Given the description of an element on the screen output the (x, y) to click on. 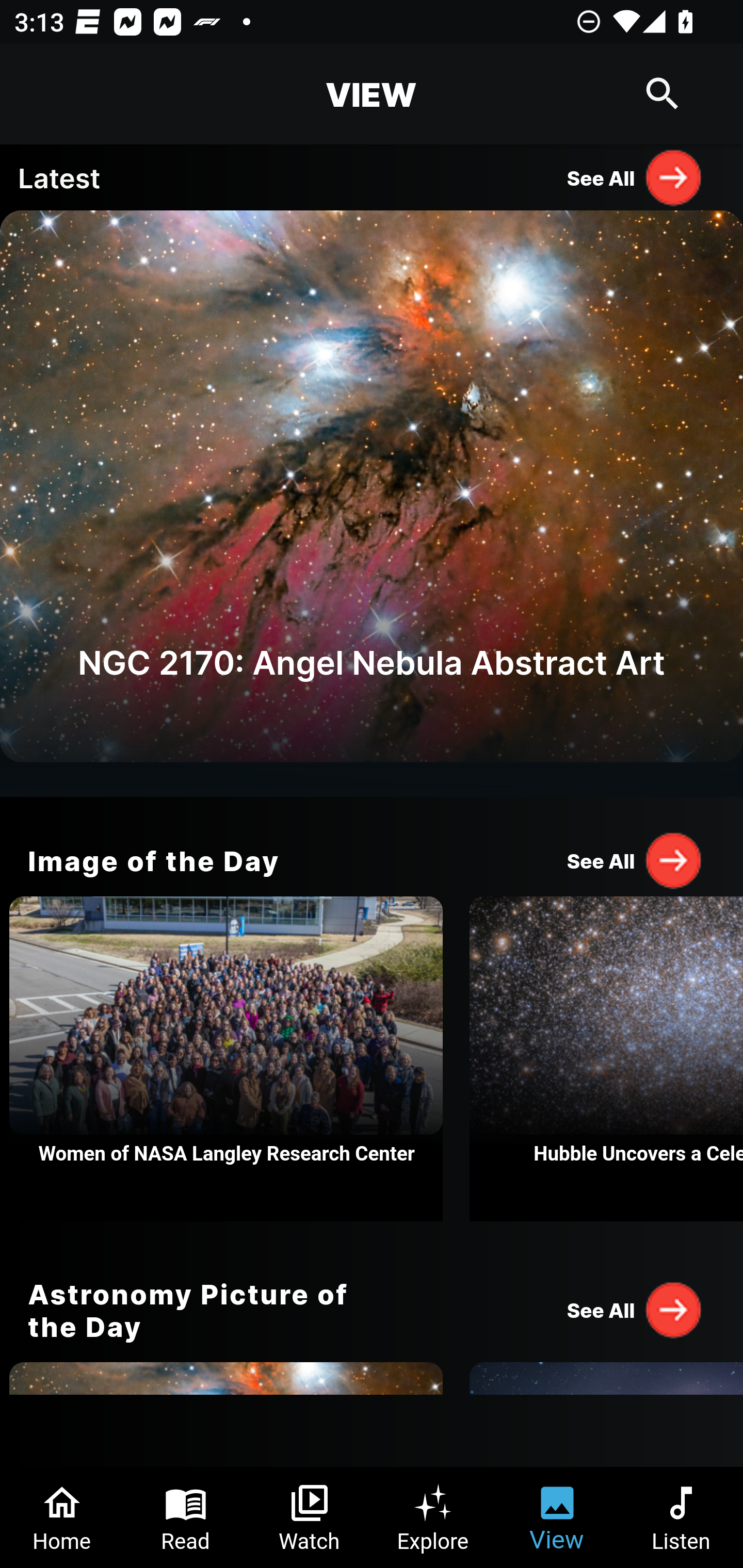
See All (634, 177)
NGC 2170: Angel Nebula Abstract Art
Hello World (371, 503)
See All (634, 860)
Women of NASA Langley Research Center (225, 1058)
Hubble Uncovers a Celestial Fossil (606, 1058)
See All (634, 1309)
Home
Tab 1 of 6 (62, 1517)
Read
Tab 2 of 6 (185, 1517)
Watch
Tab 3 of 6 (309, 1517)
Explore
Tab 4 of 6 (433, 1517)
View
Tab 5 of 6 (556, 1517)
Listen
Tab 6 of 6 (680, 1517)
